Given the description of an element on the screen output the (x, y) to click on. 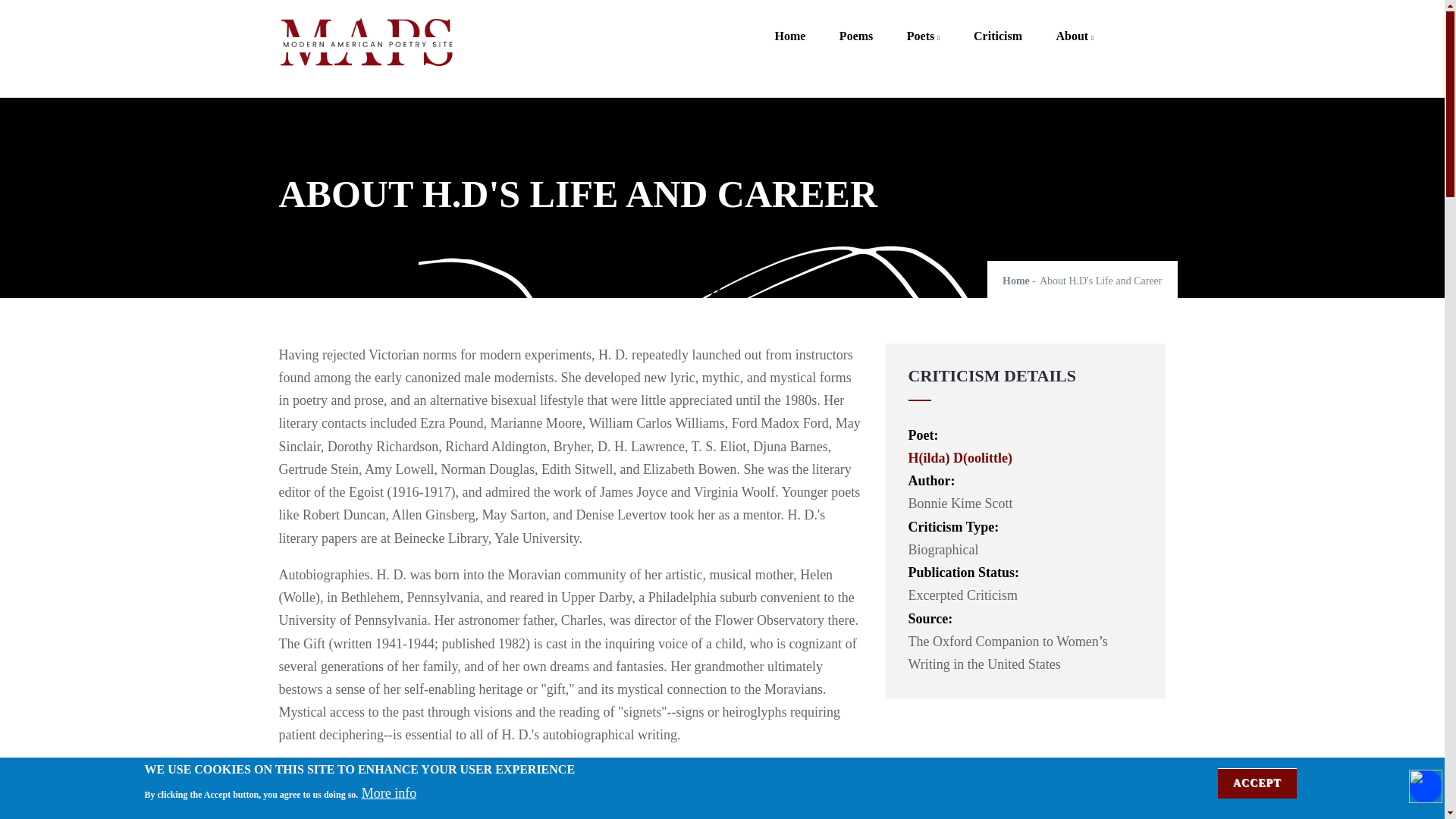
Home (1016, 280)
Home (365, 44)
Poets (923, 25)
Criticism (997, 25)
Poems (856, 25)
Home (789, 25)
More info (388, 793)
Accessibility Menu (1425, 786)
About (1075, 25)
